Given the description of an element on the screen output the (x, y) to click on. 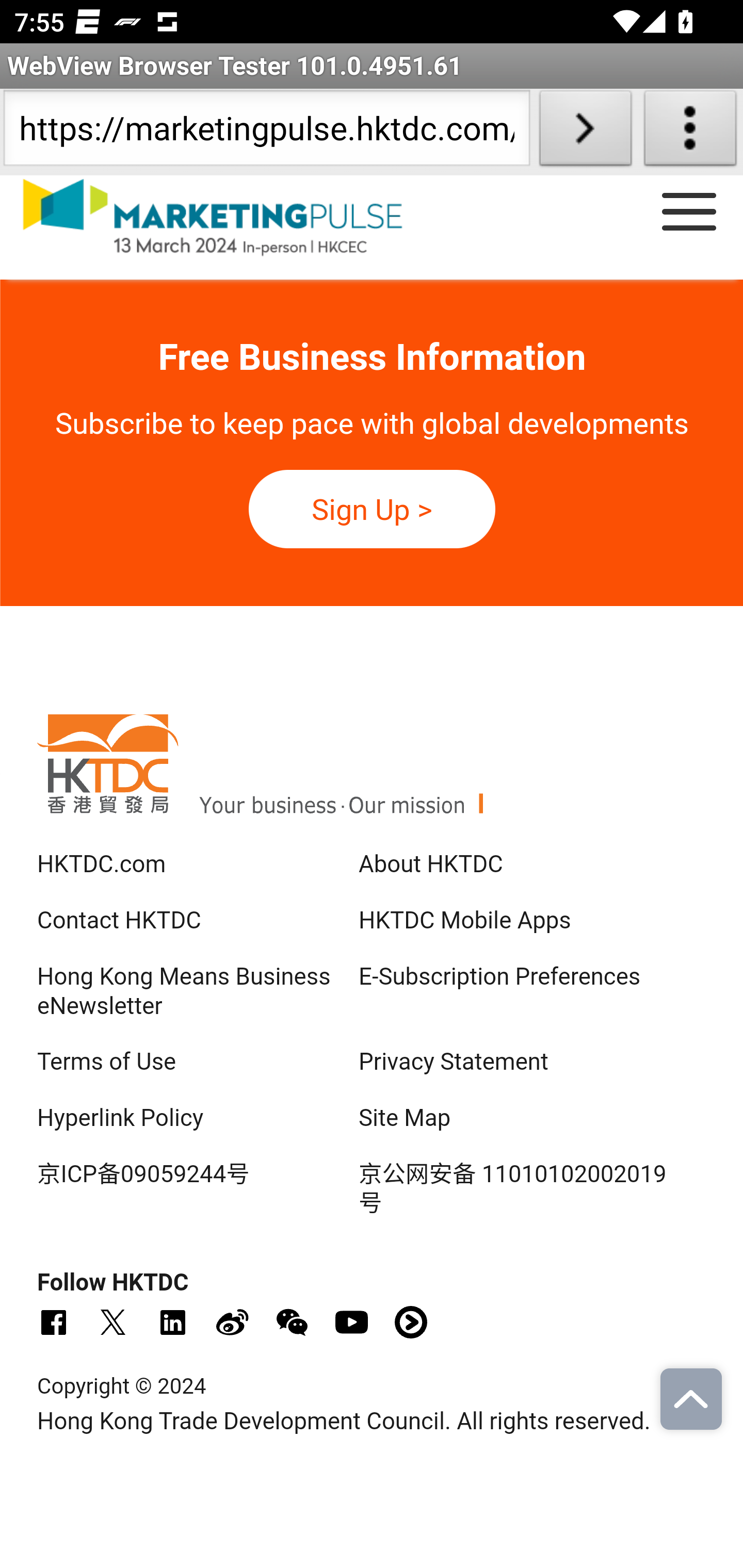
Load URL (585, 132)
About WebView (690, 132)
HKTDC Event (230, 218)
Sign Up > Sign Up  > (371, 508)
HKTDC.com (372, 781)
HKTDC.com (110, 864)
About HKTDC (430, 864)
Contact HKTDC (128, 921)
HKTDC Mobile Apps (464, 921)
Hong Kong Means Business eNewsletter (184, 992)
E-Subscription Preferences (498, 977)
Terms of Use (115, 1062)
Privacy Statement (453, 1062)
Hyperlink Policy (129, 1119)
Site Map (404, 1119)
京ICP备09059244号 (152, 1175)
京公网安备 11010102002019号 (512, 1189)
Follow Us on Facebook (52, 1322)
Follow Us on X - Twitter (112, 1322)
Follow Us on Linkedin (172, 1322)
Follow Us on Weibo (231, 1322)
Follow Us on Youtube (350, 1322)
Follow Us on Youku (410, 1322)
